Given the description of an element on the screen output the (x, y) to click on. 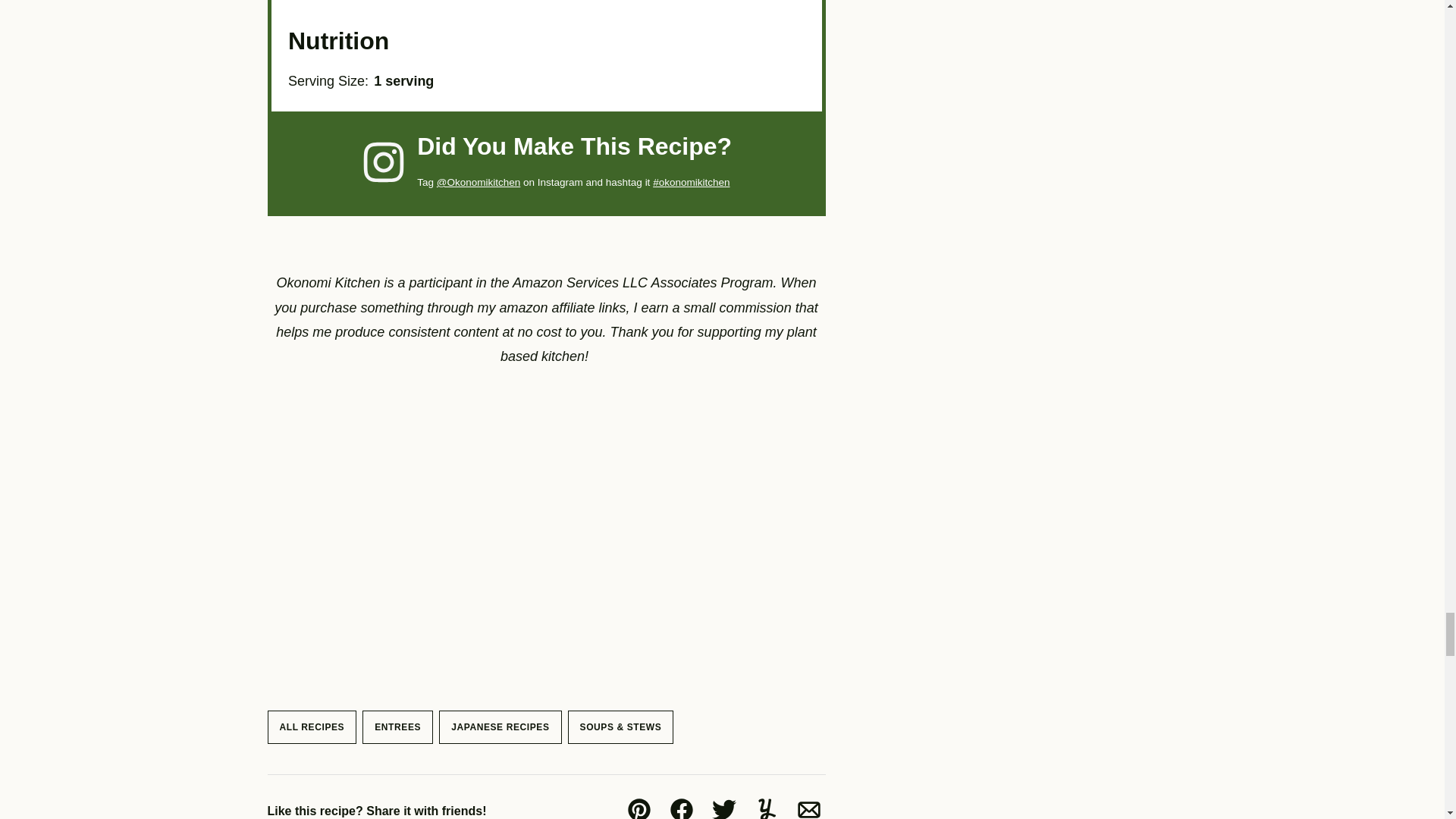
Share via Email (808, 806)
Share on Yummly (766, 806)
Share on Twitter (722, 806)
Share on Facebook (680, 806)
Share on Pinterest (638, 806)
